Given the description of an element on the screen output the (x, y) to click on. 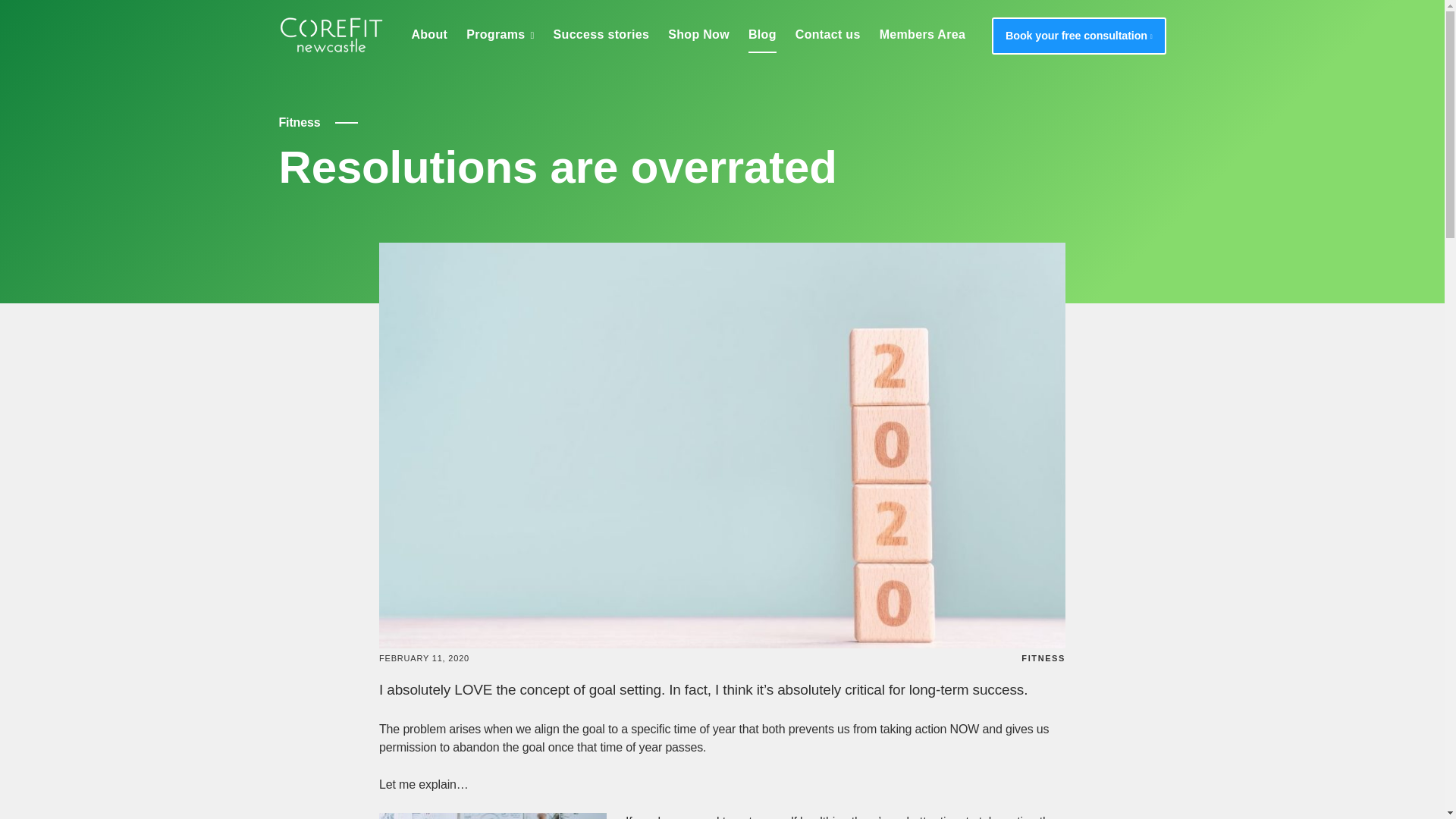
Book your free consultation (1078, 35)
Programs (499, 35)
Members Area (922, 35)
Success stories (601, 35)
About (428, 35)
Corefit Newcastle (332, 34)
Shop Now (698, 35)
Contact us (827, 35)
